Given the description of an element on the screen output the (x, y) to click on. 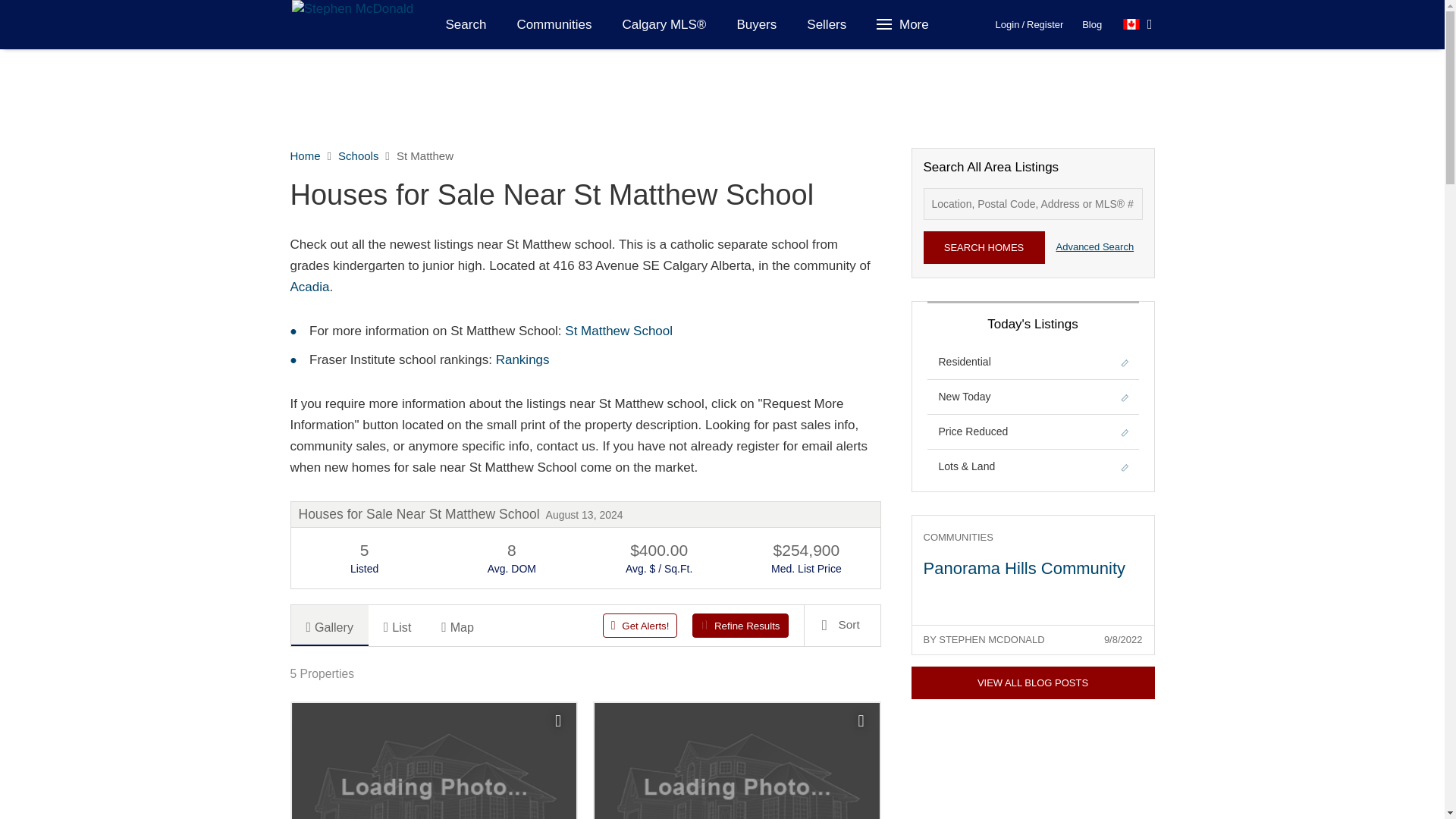
Select Language (1137, 24)
Communities (553, 24)
Search (466, 24)
